Given the description of an element on the screen output the (x, y) to click on. 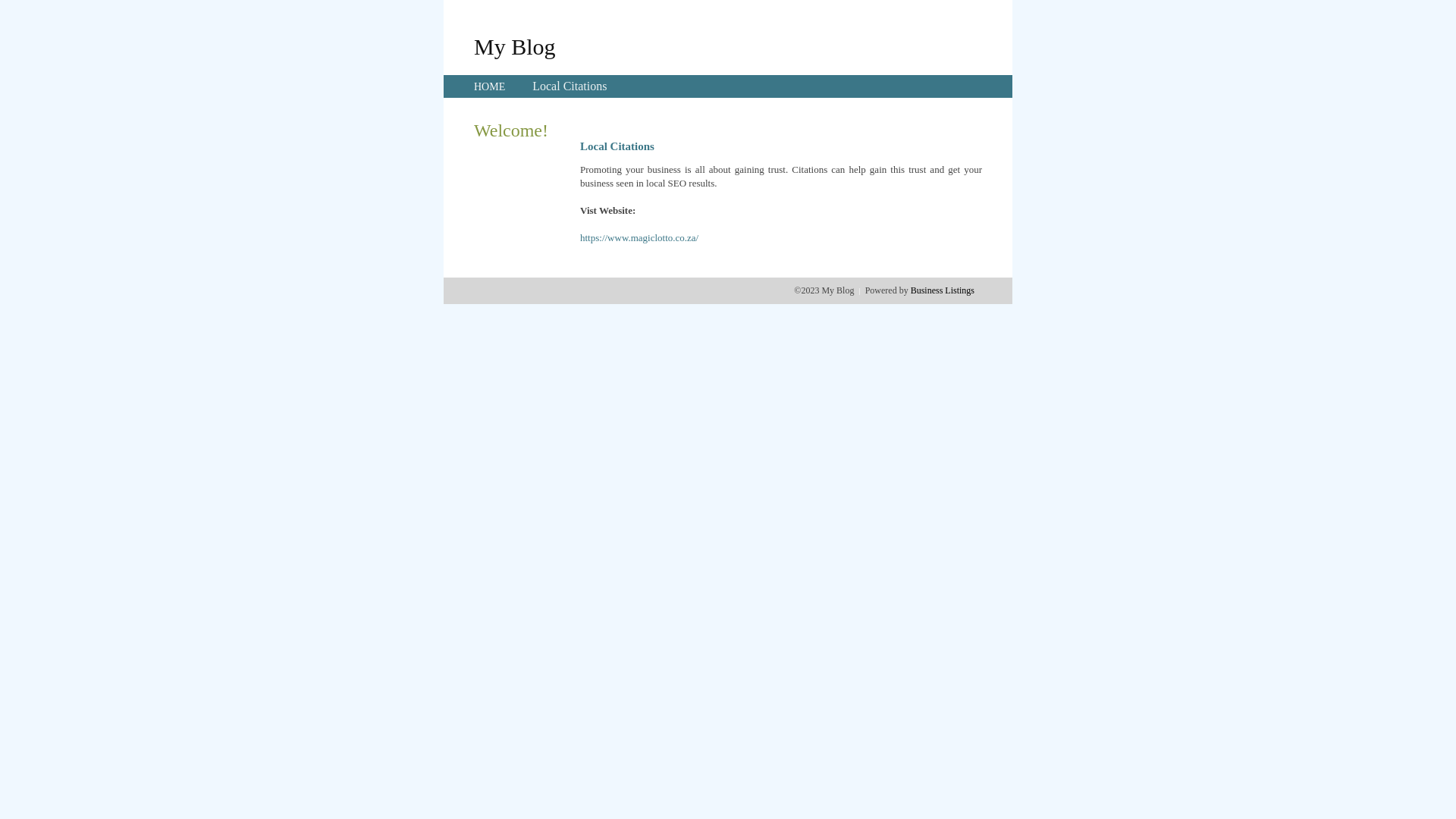
HOME Element type: text (489, 86)
https://www.magiclotto.co.za/ Element type: text (639, 237)
Local Citations Element type: text (569, 85)
My Blog Element type: text (514, 46)
Business Listings Element type: text (942, 290)
